Given the description of an element on the screen output the (x, y) to click on. 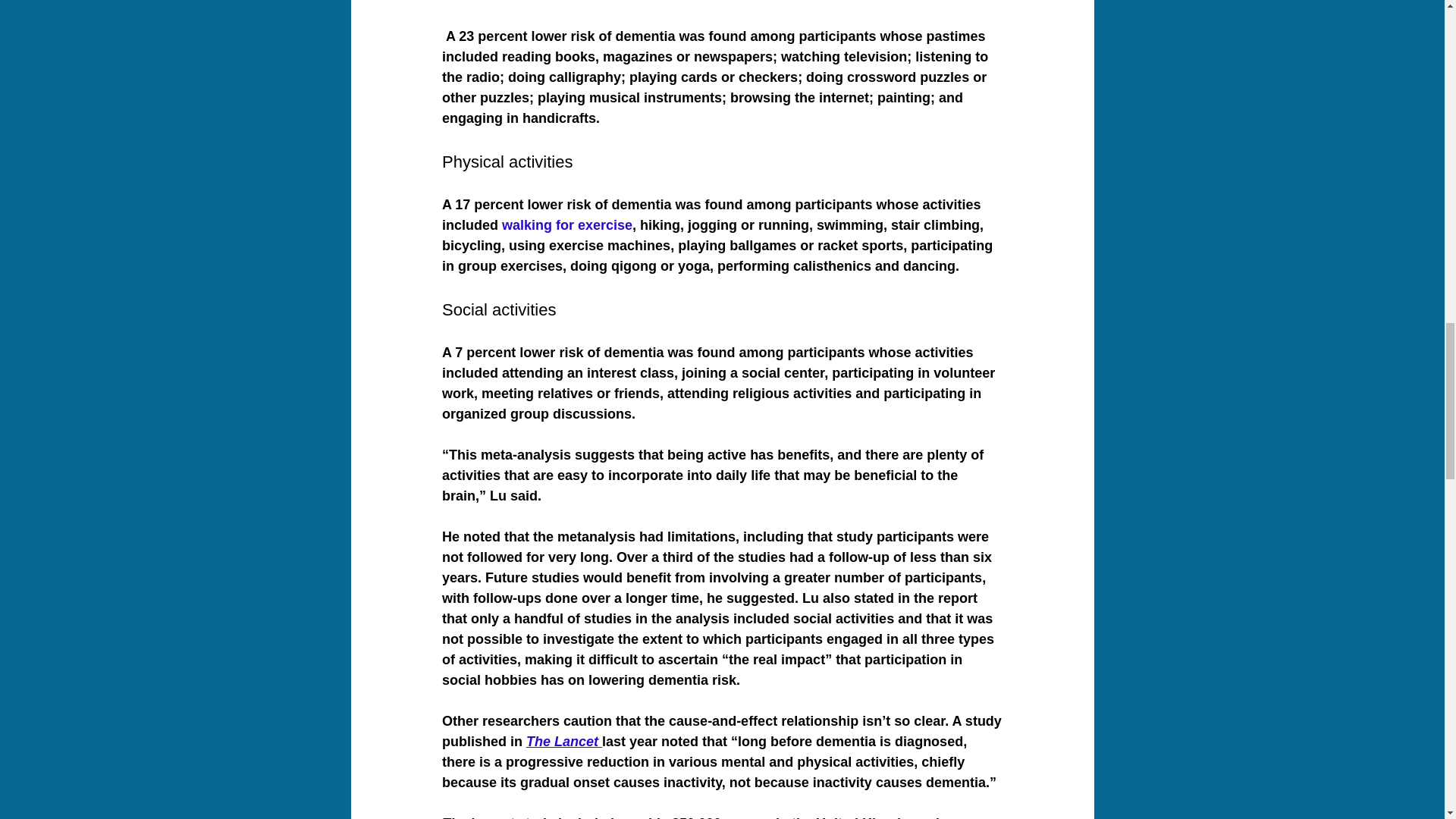
walking for exercise (566, 224)
The Lancet (561, 741)
